Given the description of an element on the screen output the (x, y) to click on. 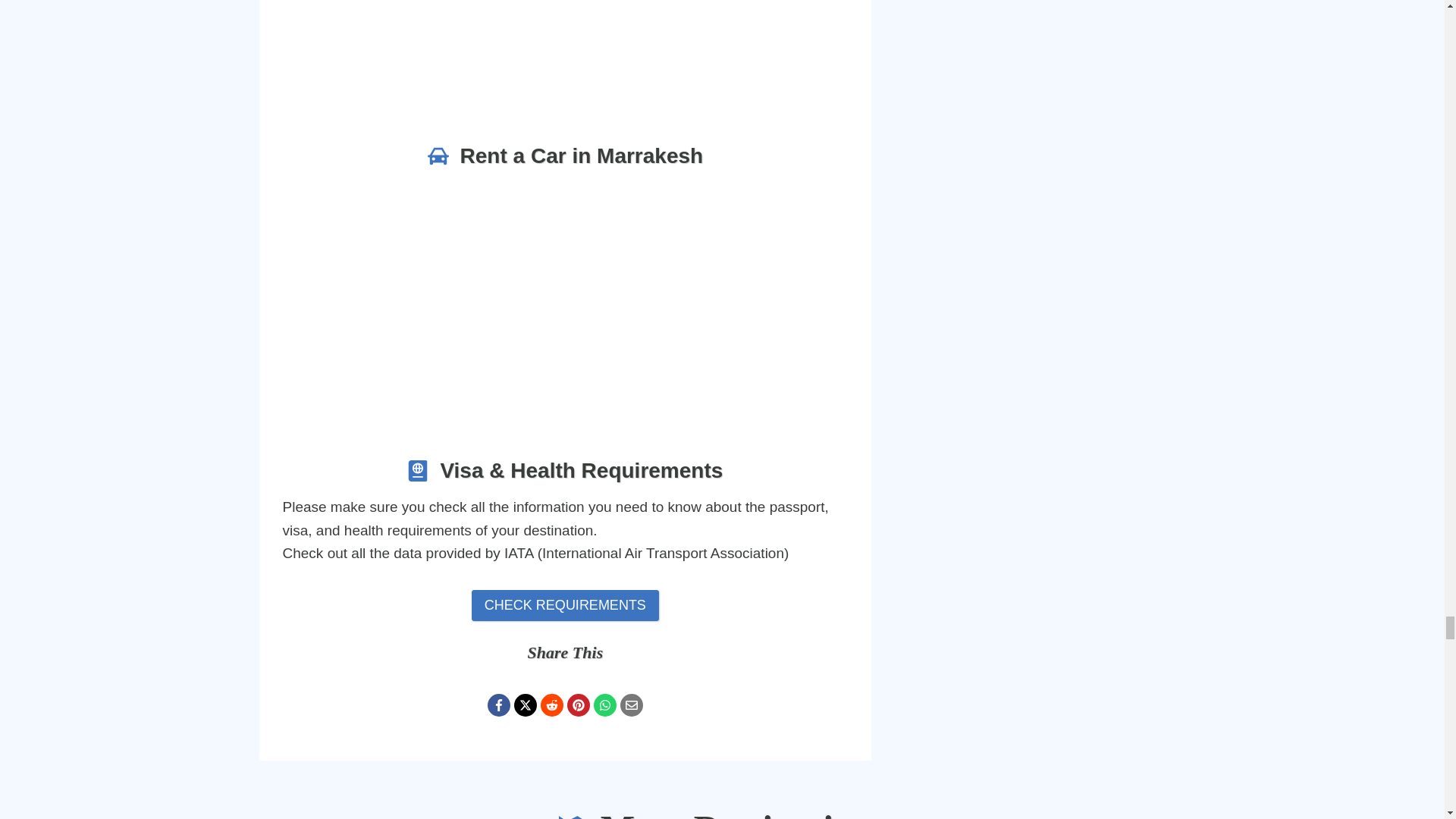
DiscoverCars.com (564, 295)
